Given the description of an element on the screen output the (x, y) to click on. 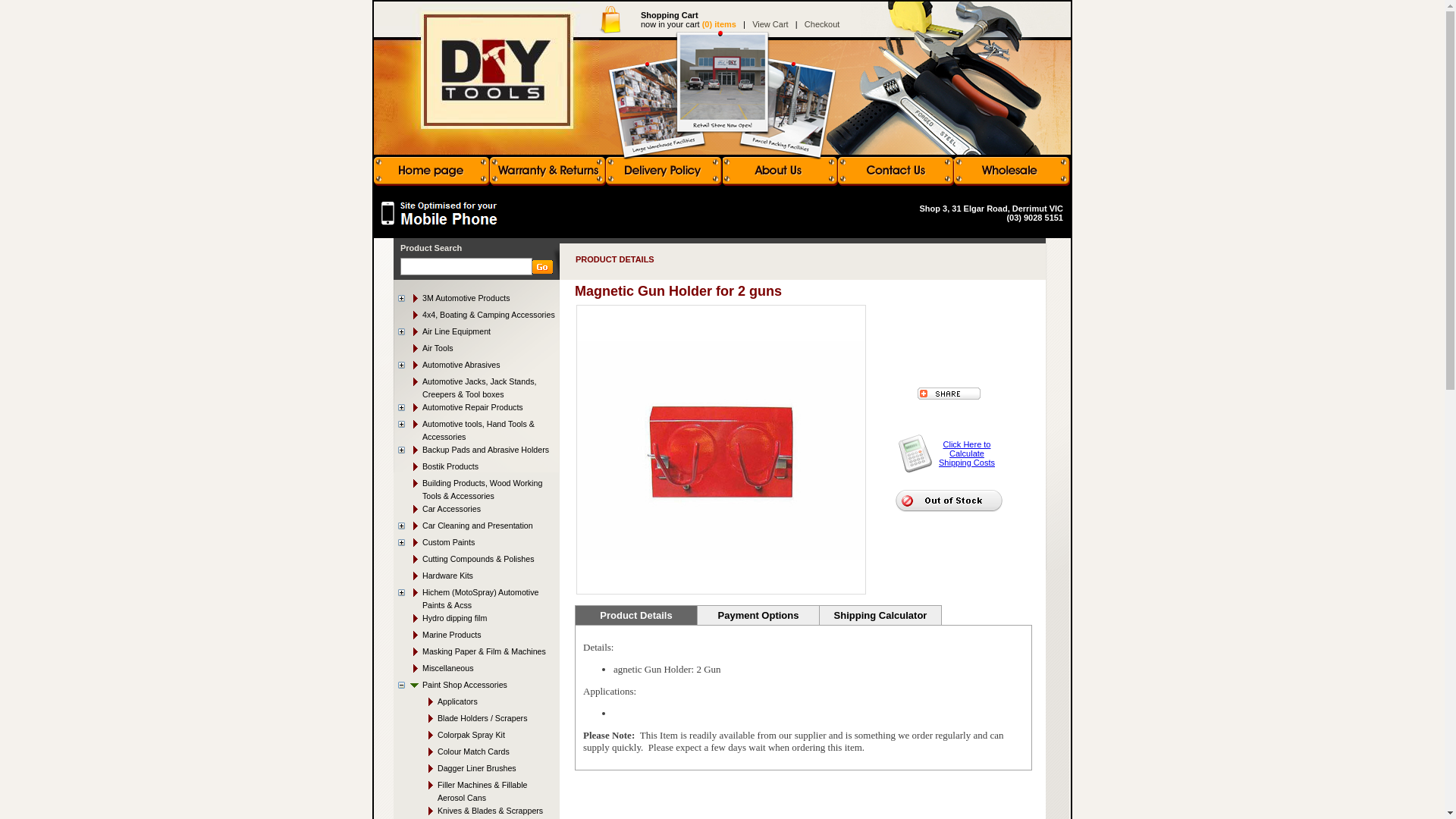
Hydro dipping film Element type: text (476, 621)
Cutting Compounds & Polishes Element type: text (476, 562)
Automotive tools, Hand Tools & Accessories Element type: text (478, 430)
Automotive Abrasives Element type: text (460, 364)
Paint Shop Accessories Element type: text (464, 684)
Applicators Element type: text (483, 704)
View Cart Element type: text (769, 23)
Colorpak Spray Kit Element type: text (483, 738)
Blade Holders / Scrapers Element type: text (483, 721)
Miscellaneous Element type: text (476, 671)
Automotive Jacks, Jack Stands, Creepers & Tool boxes Element type: text (476, 389)
Bostik Products Element type: text (476, 469)
Masking Paper & Film & Machines Element type: text (476, 654)
Colour Match Cards Element type: text (483, 754)
Air Tools Element type: text (476, 351)
Marine Products Element type: text (476, 638)
Hardware Kits Element type: text (476, 579)
Car Cleaning and Presentation Element type: text (477, 525)
Backup Pads and Abrasive Holders Element type: text (485, 449)
Hichem (MotoSpray) Automotive Paints & Acss Element type: text (480, 598)
Checkout Element type: text (821, 23)
Click Here to
Calculate
Shipping Costs Element type: text (966, 453)
3M Automotive Products Element type: text (466, 297)
Dagger Liner Brushes Element type: text (483, 771)
Air Line Equipment Element type: text (456, 330)
Car Accessories Element type: text (476, 512)
Building Products, Wood Working Tools & Accessories Element type: text (476, 491)
Custom Paints Element type: text (448, 541)
Automotive Repair Products Element type: text (472, 406)
Filler Machines & Fillable Aerosol Cans Element type: text (483, 793)
4x4, Boating & Camping Accessories Element type: text (476, 318)
